Given the description of an element on the screen output the (x, y) to click on. 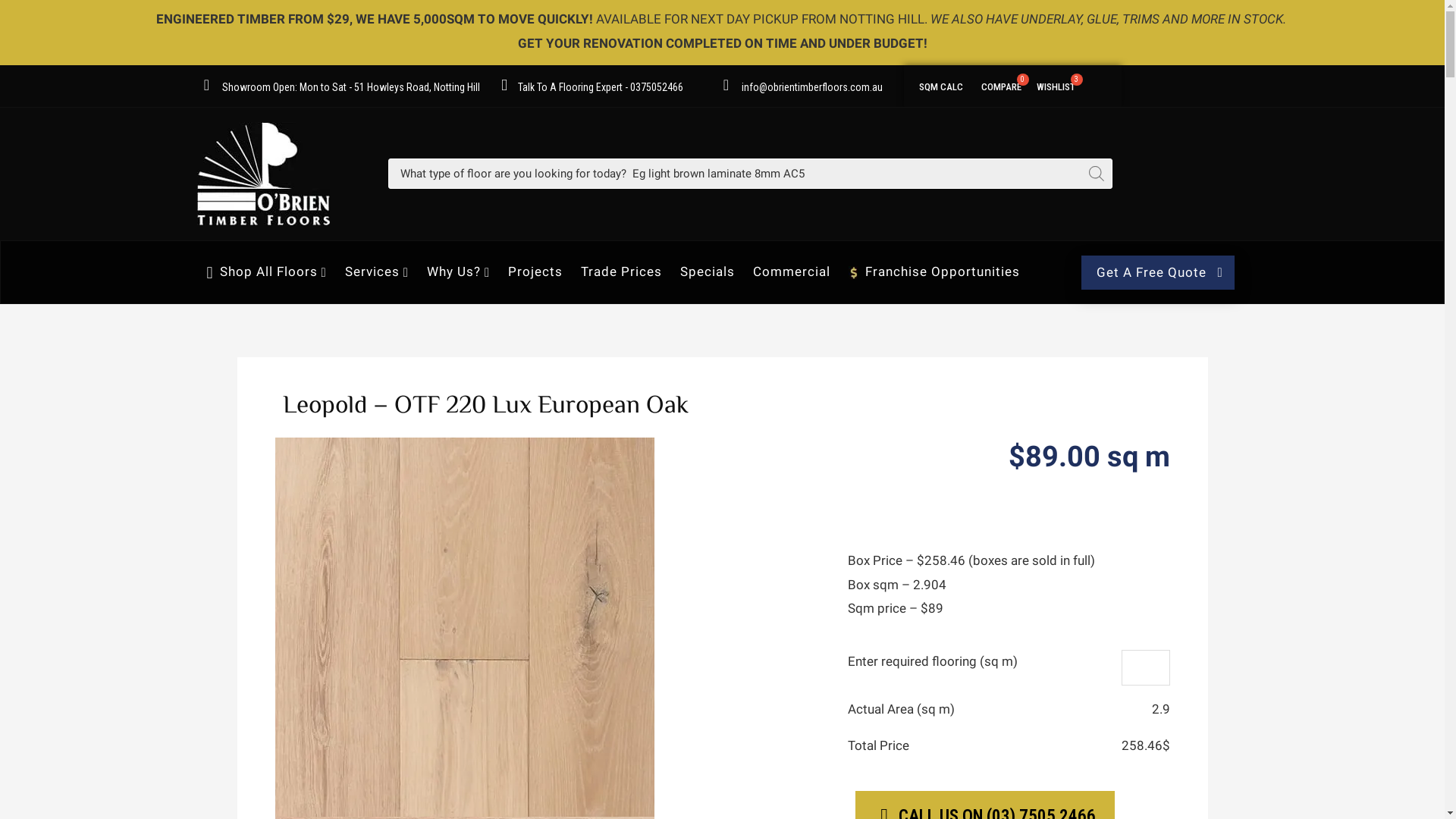
Why Us? Element type: text (458, 271)
Trade Prices Element type: text (621, 271)
Get A Free Quote Element type: text (1156, 272)
Franchise Opportunities Element type: text (933, 271)
Commercial Element type: text (791, 271)
Specials Element type: text (707, 271)
SQM CALC Element type: text (940, 84)
Services Element type: text (376, 271)
Projects Element type: text (535, 271)
WISHLIST Element type: text (1055, 84)
COMPARE Element type: text (1000, 84)
Shop All Floors Element type: text (266, 271)
